Given the description of an element on the screen output the (x, y) to click on. 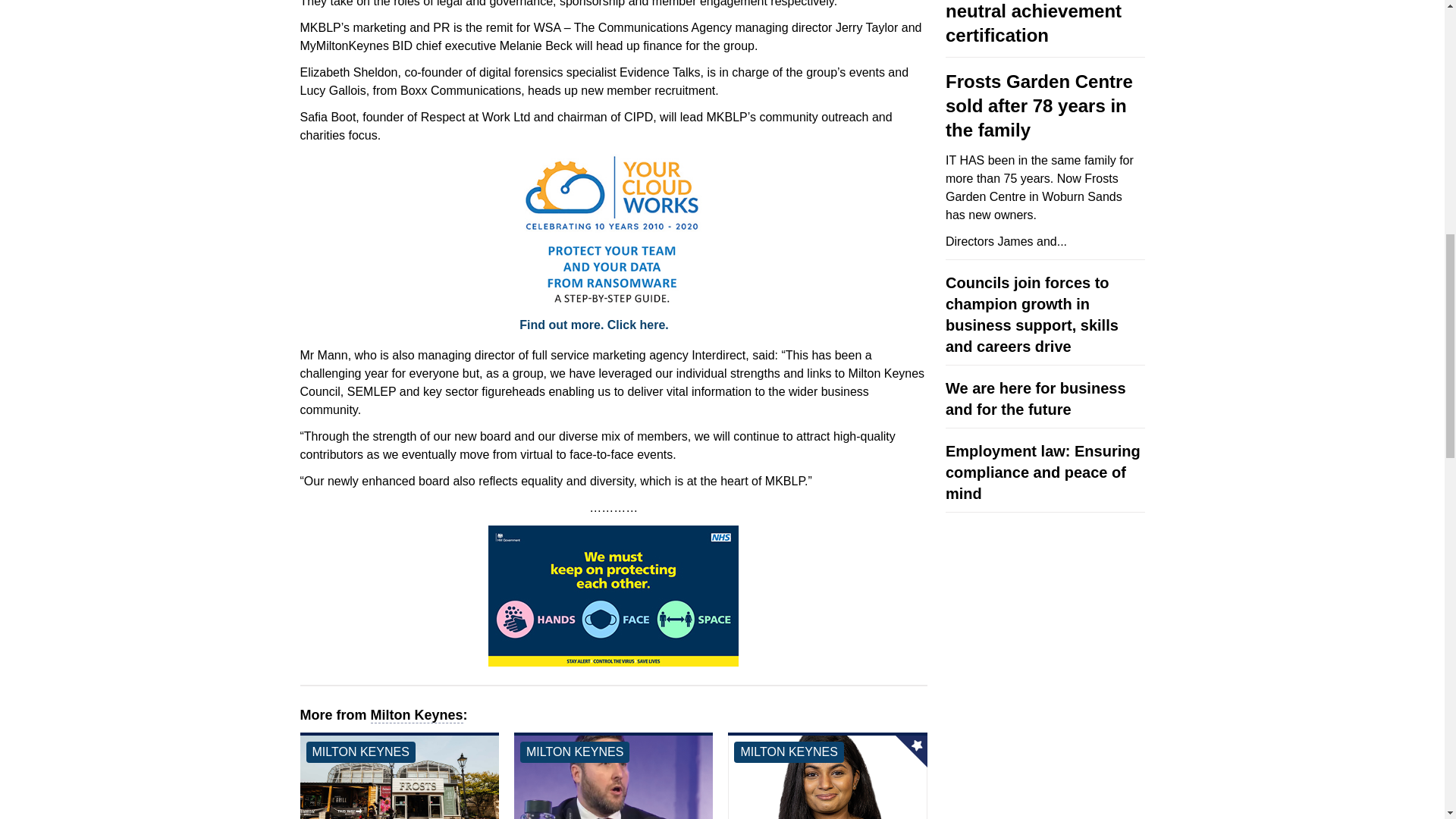
See all milton keynes (359, 752)
See all milton keynes (573, 752)
